Given the description of an element on the screen output the (x, y) to click on. 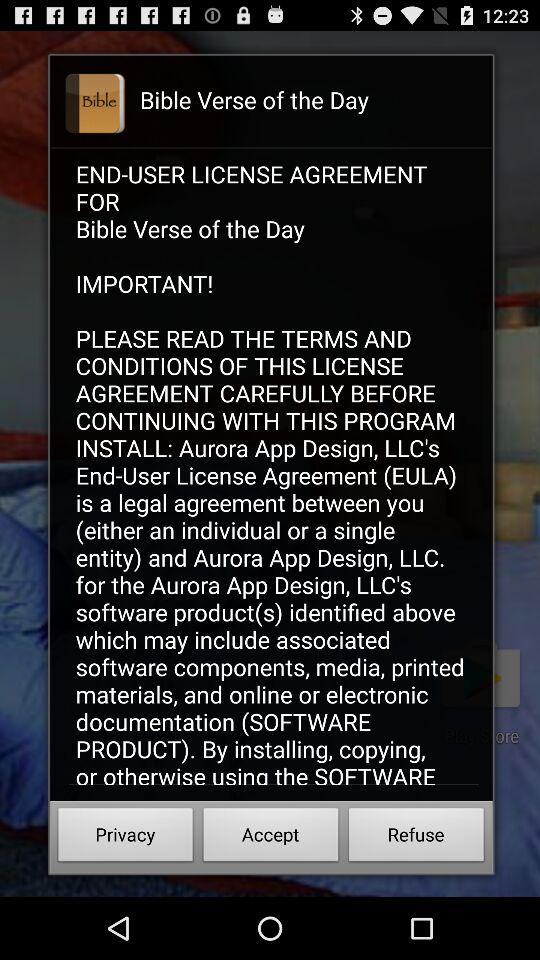
press the refuse (416, 837)
